Given the description of an element on the screen output the (x, y) to click on. 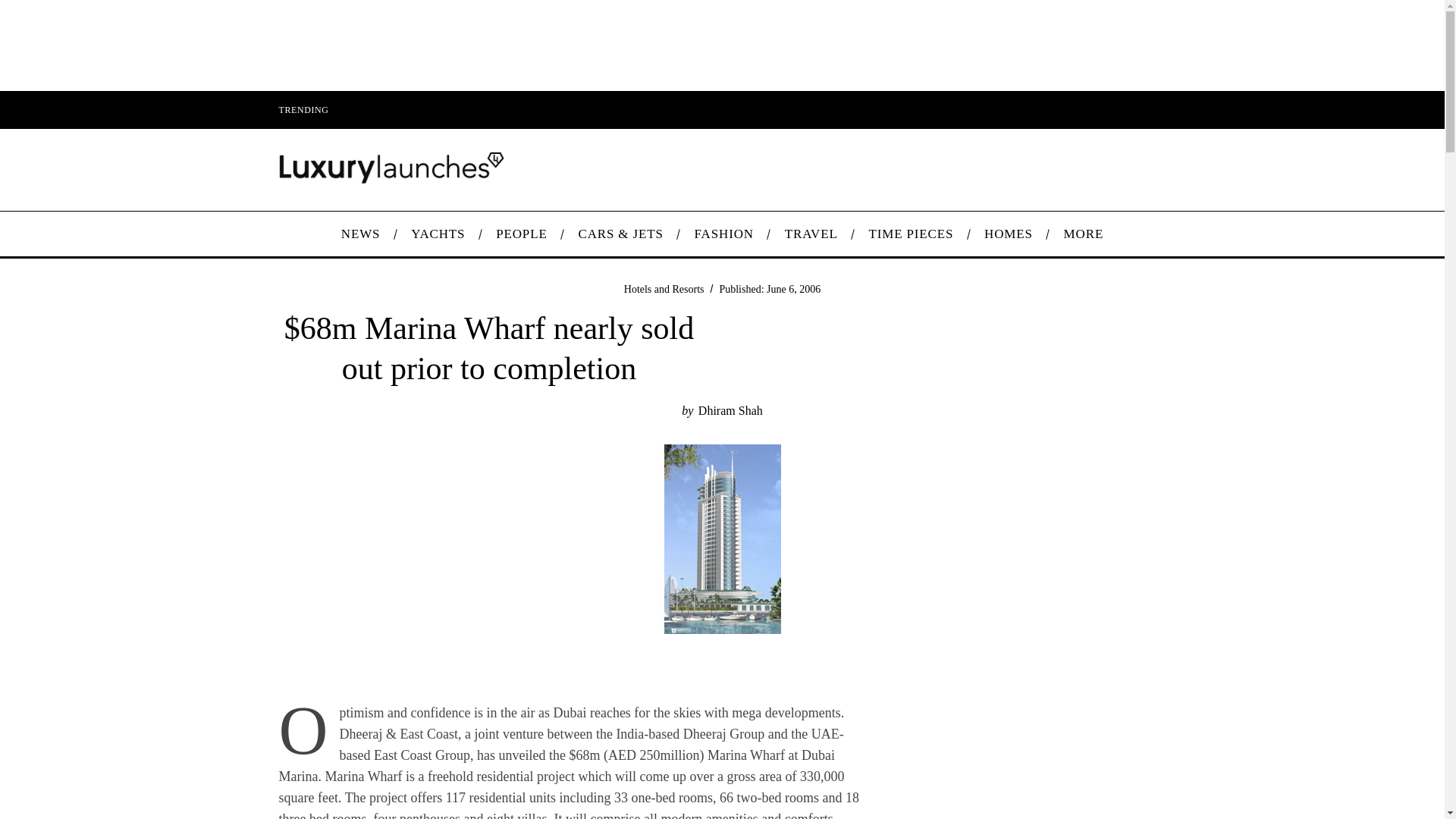
MORE (1083, 233)
Dhiram Shah (730, 410)
HOMES (1008, 233)
Hotels and Resorts (664, 288)
PEOPLE (521, 233)
FASHION (723, 233)
TRAVEL (810, 233)
TIME PIECES (911, 233)
TRENDING (302, 109)
